Given the description of an element on the screen output the (x, y) to click on. 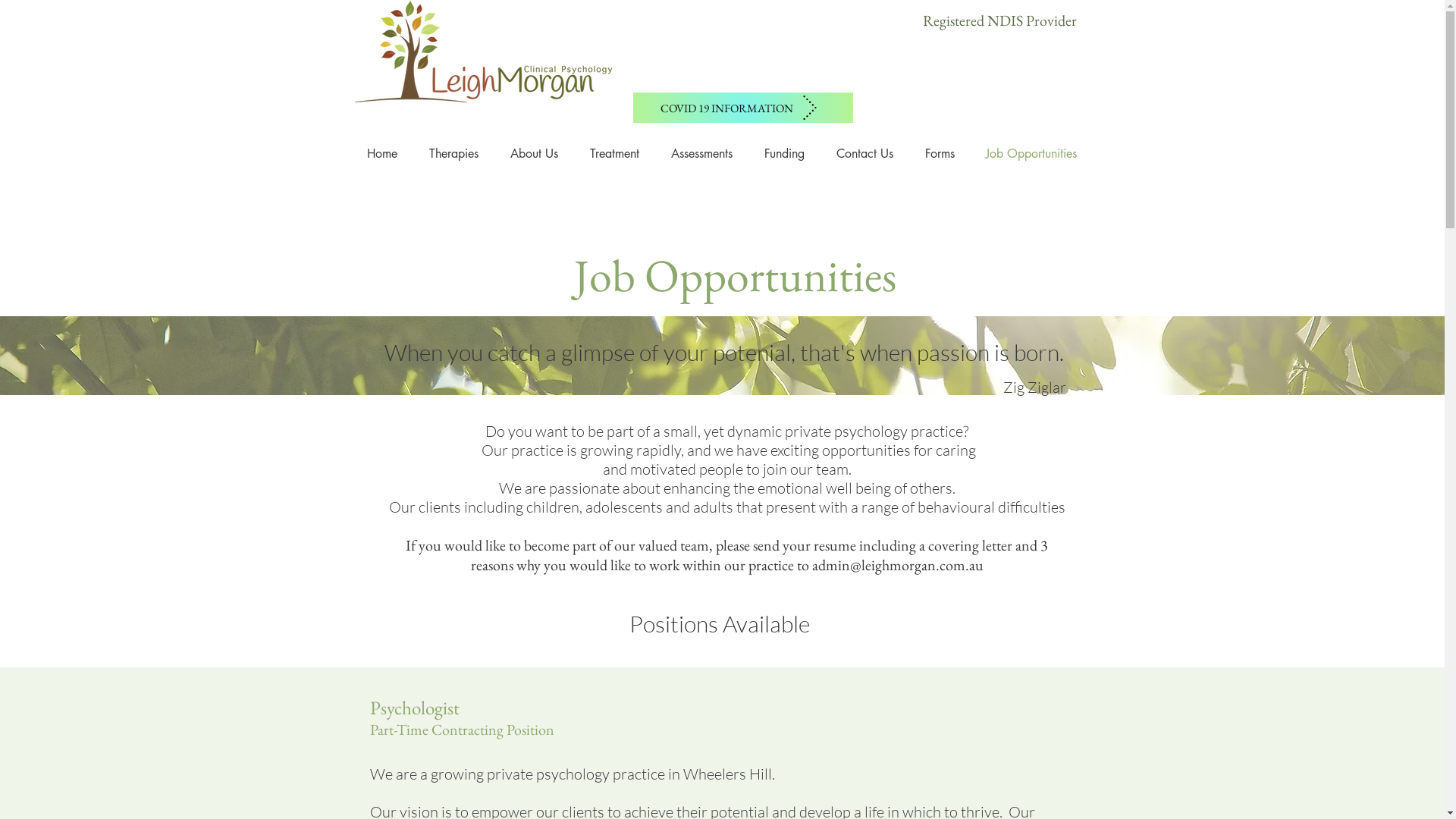
Assessments Element type: text (701, 153)
Contact Us Element type: text (864, 153)
Job Opportunities Element type: text (1031, 153)
admin@leighmorgan.com.au Element type: text (896, 564)
Funding Element type: text (783, 153)
Home Element type: text (381, 153)
COVID 19 INFORMATION Element type: text (742, 107)
